Given the description of an element on the screen output the (x, y) to click on. 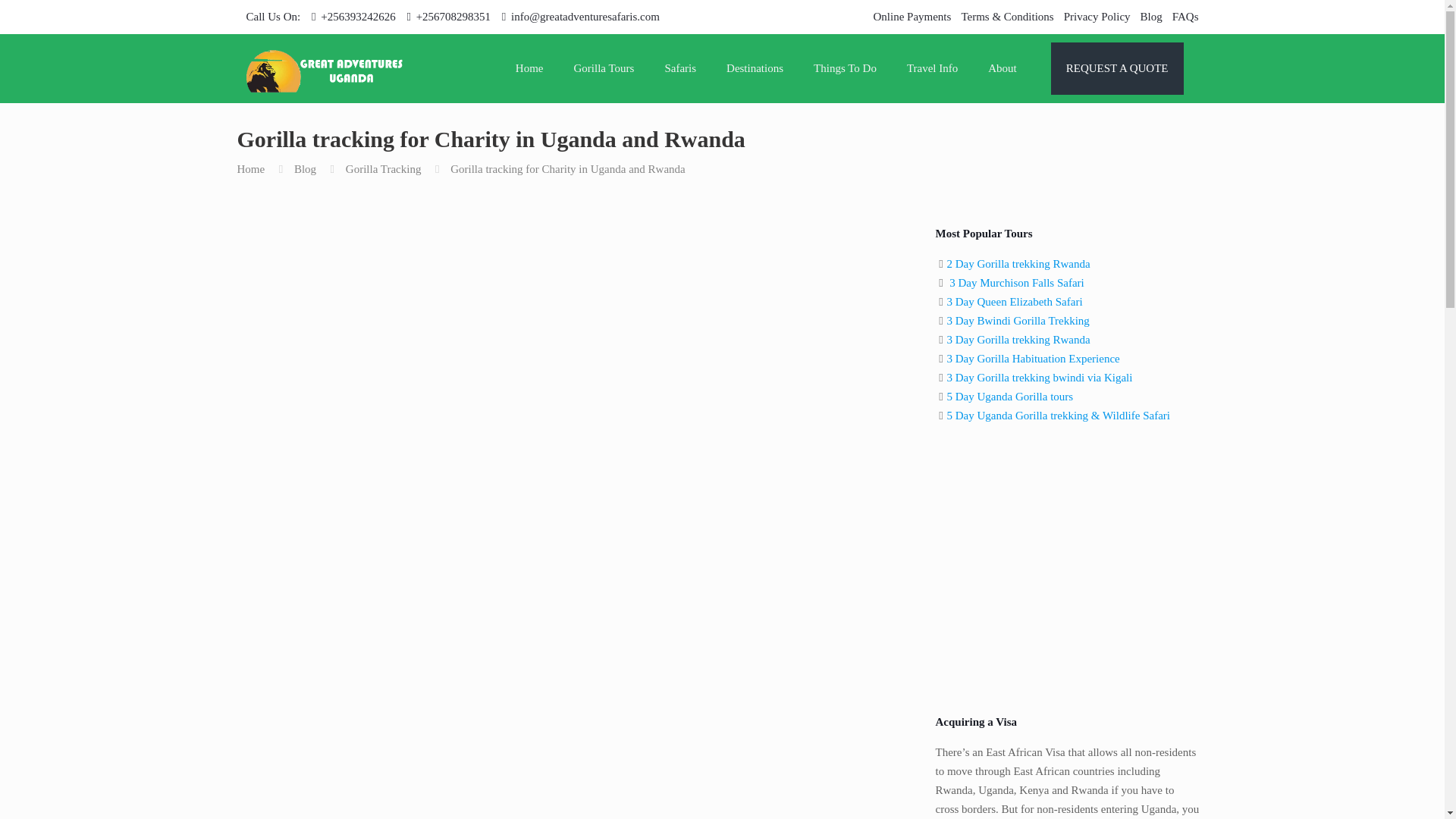
Destinations (754, 68)
Privacy Policy (1097, 16)
Blog (1150, 16)
Gorilla Tours (603, 68)
Online Payments (911, 16)
FAQs (1185, 16)
Safaris (680, 68)
Home (529, 68)
Great Adventures Safaris (324, 68)
